Given the description of an element on the screen output the (x, y) to click on. 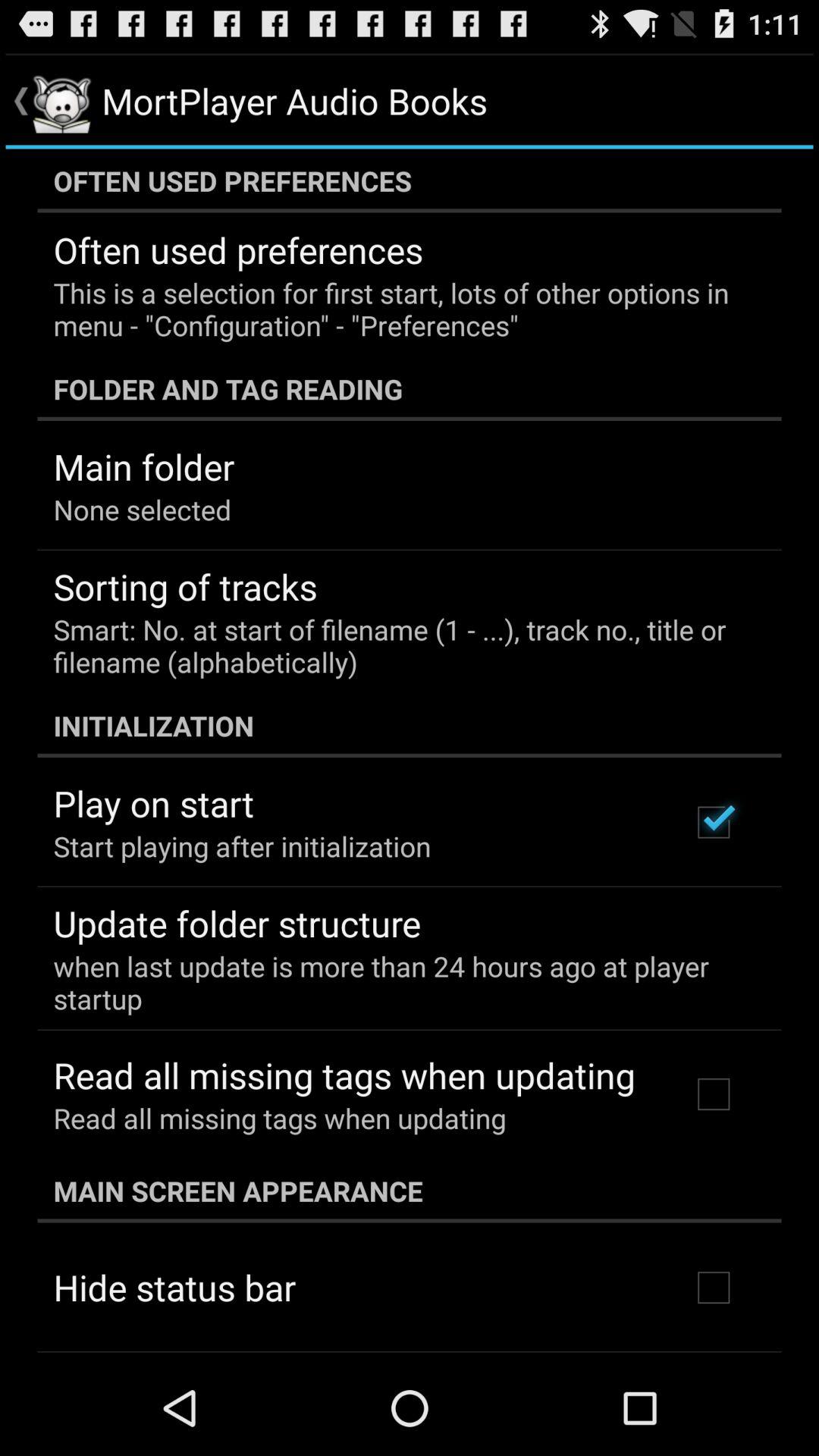
click icon below update folder structure app (399, 982)
